Given the description of an element on the screen output the (x, y) to click on. 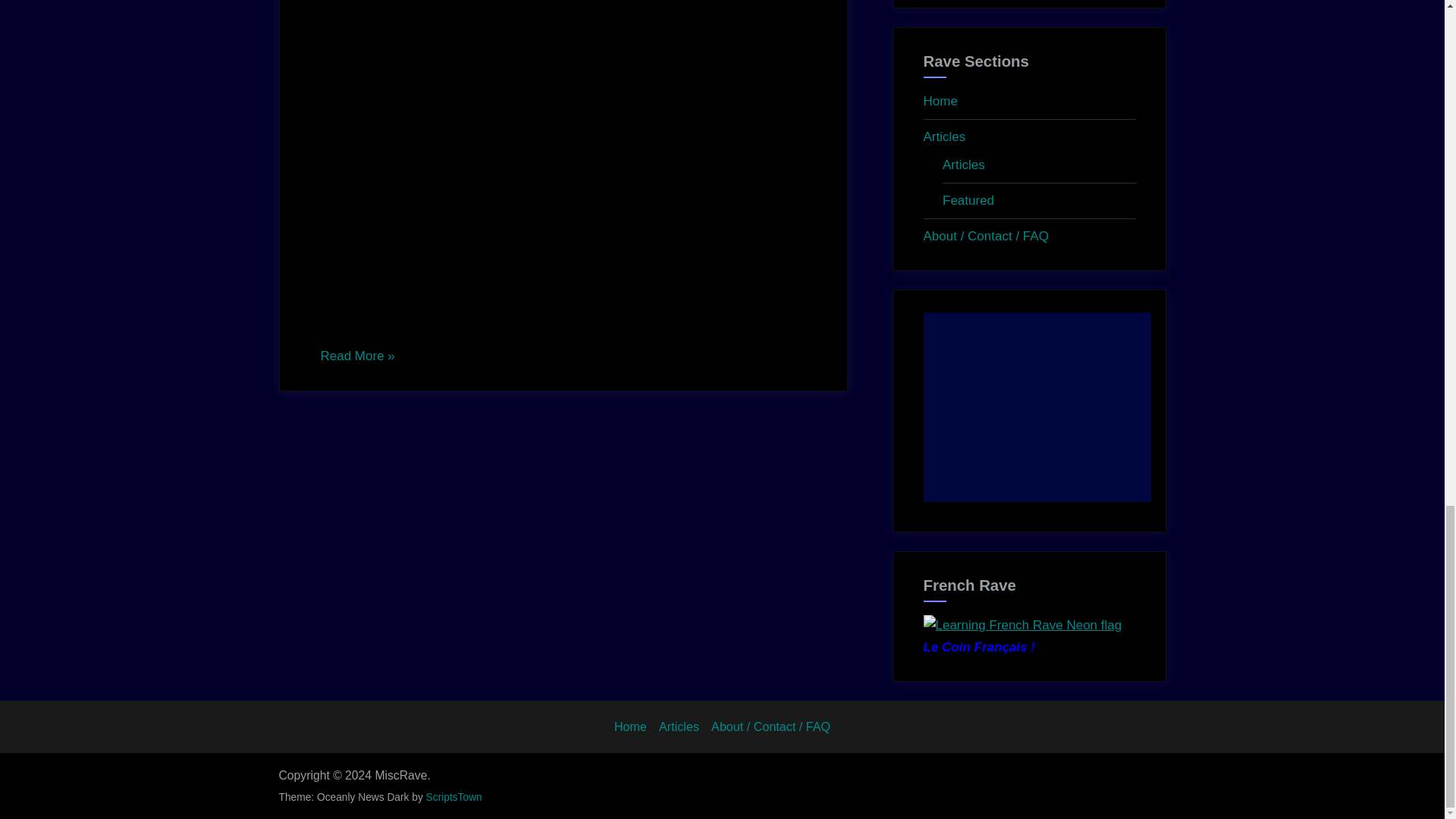
Home (940, 101)
Articles (963, 164)
ScriptsTown (453, 797)
Home (630, 726)
Articles (944, 136)
Featured (968, 200)
Articles (678, 726)
